Given the description of an element on the screen output the (x, y) to click on. 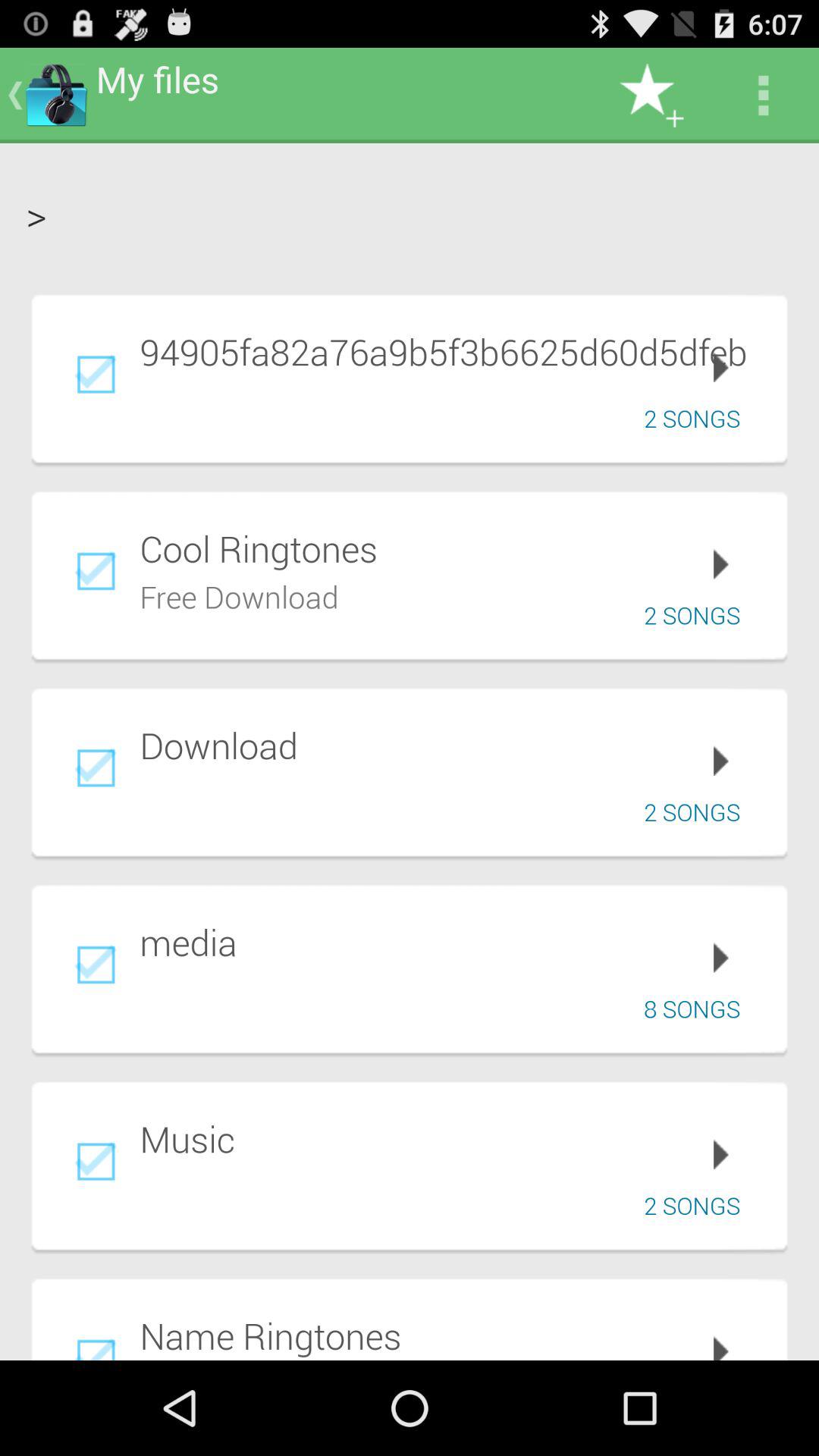
launch icon above the > icon (763, 95)
